Given the description of an element on the screen output the (x, y) to click on. 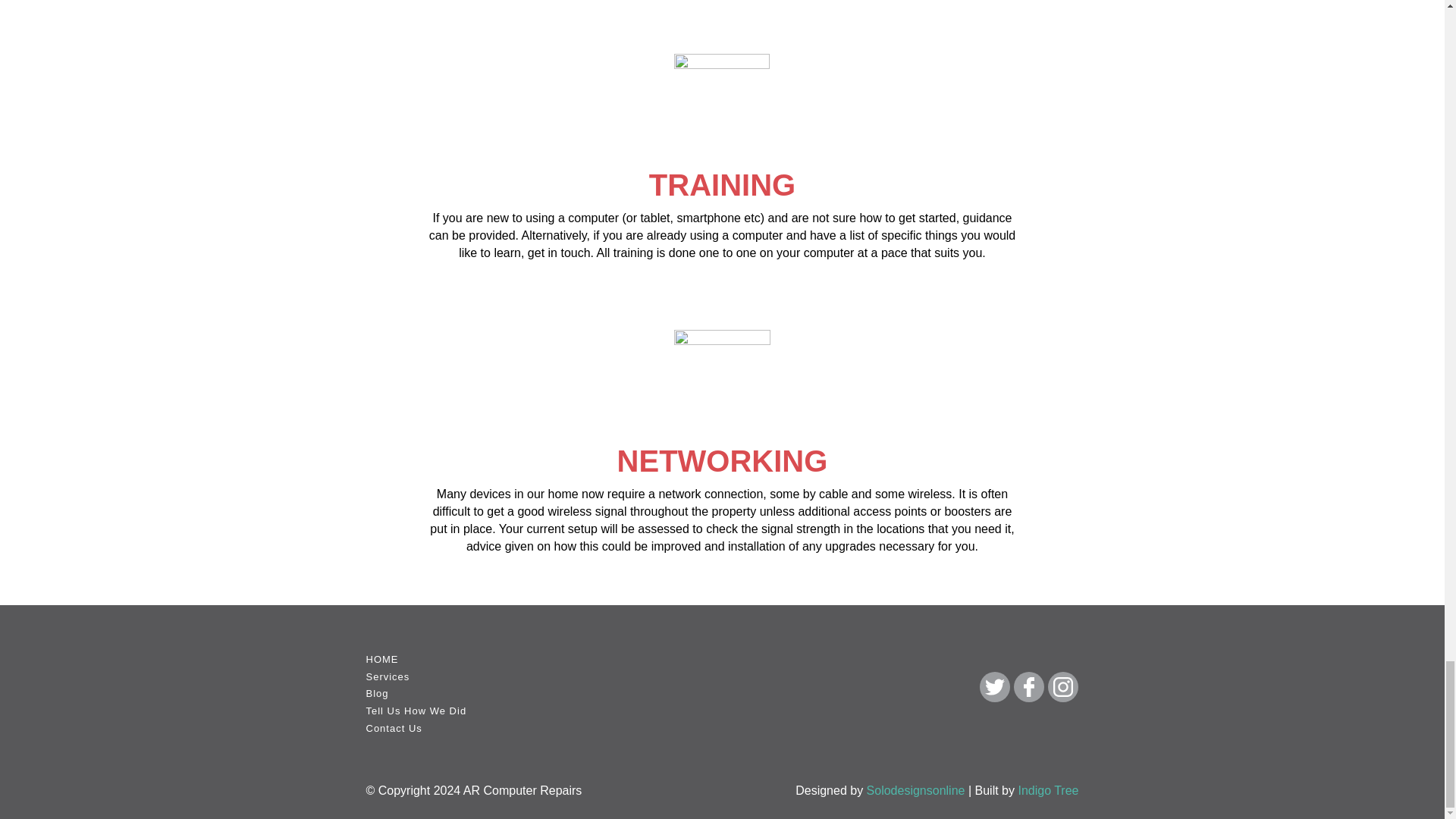
Tell Us How We Did (415, 710)
Facebook (1028, 686)
Twitter (994, 686)
Indigo Tree (1047, 789)
Contact Us (393, 727)
HOME (381, 659)
Services (387, 676)
Instagram (1063, 686)
Blog (376, 693)
Solodesignsonline (915, 789)
